Given the description of an element on the screen output the (x, y) to click on. 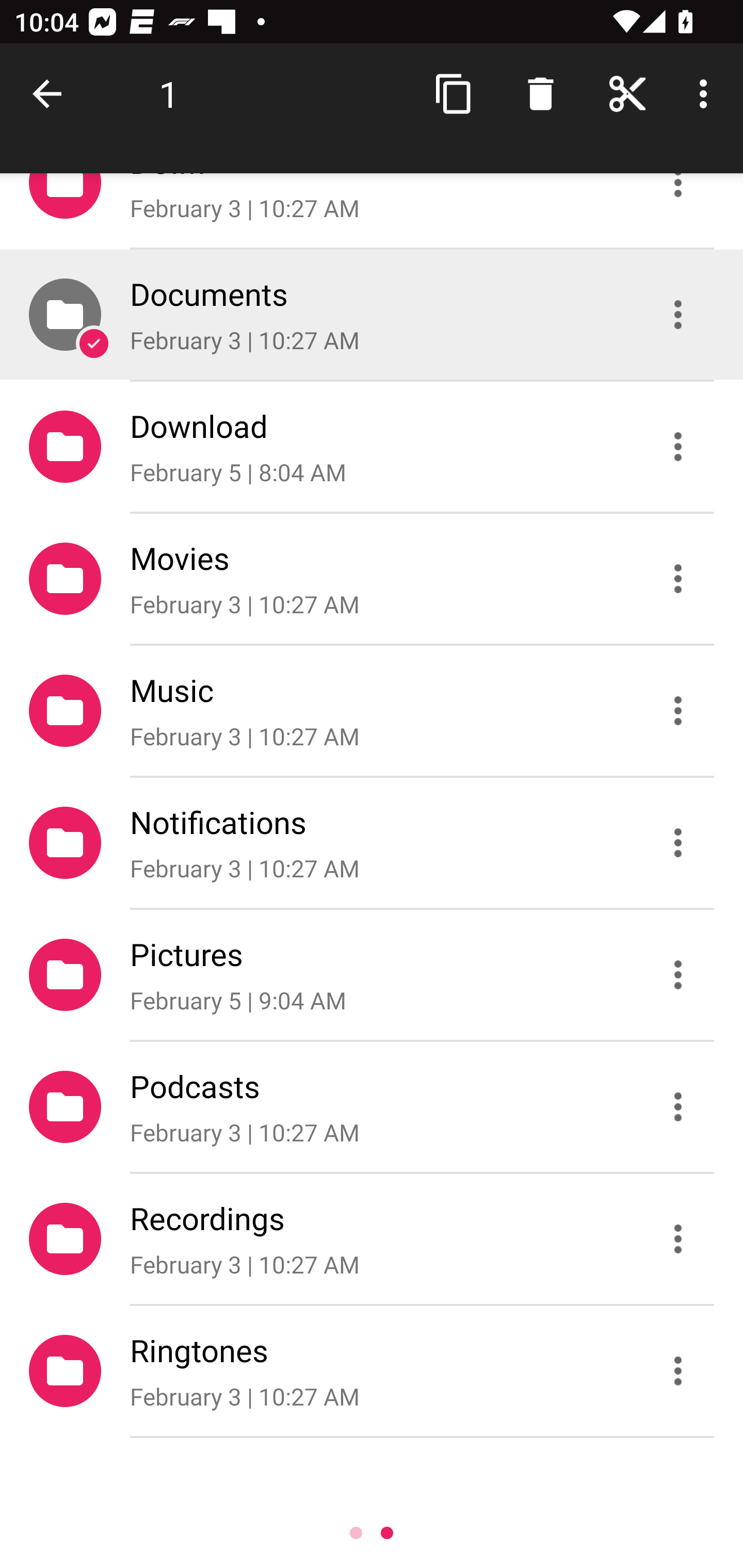
1 (169, 93)
Done (50, 93)
Copy (453, 93)
Delete (540, 93)
Cut (626, 93)
More options (706, 93)
DCIM February 3 | 10:27 AM (371, 210)
Documents February 3 | 10:27 AM (371, 314)
Download February 5 | 8:04 AM (371, 446)
Movies February 3 | 10:27 AM (371, 579)
Music February 3 | 10:27 AM (371, 711)
Notifications February 3 | 10:27 AM (371, 842)
Pictures February 5 | 9:04 AM (371, 974)
Podcasts February 3 | 10:27 AM (371, 1106)
Recordings February 3 | 10:27 AM (371, 1239)
Ringtones February 3 | 10:27 AM (371, 1371)
